Given the description of an element on the screen output the (x, y) to click on. 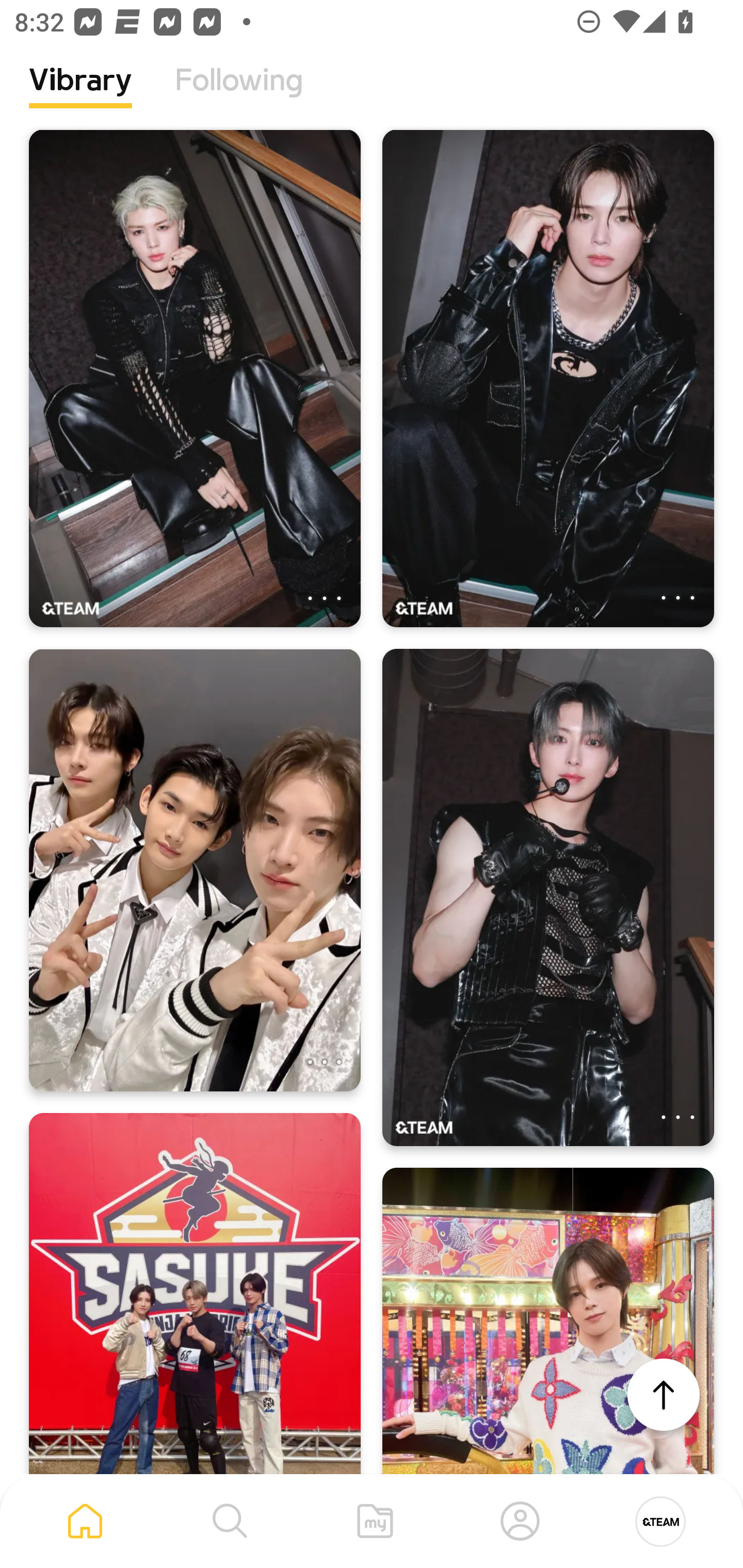
Vibrary (80, 95)
Following (239, 95)
